Given the description of an element on the screen output the (x, y) to click on. 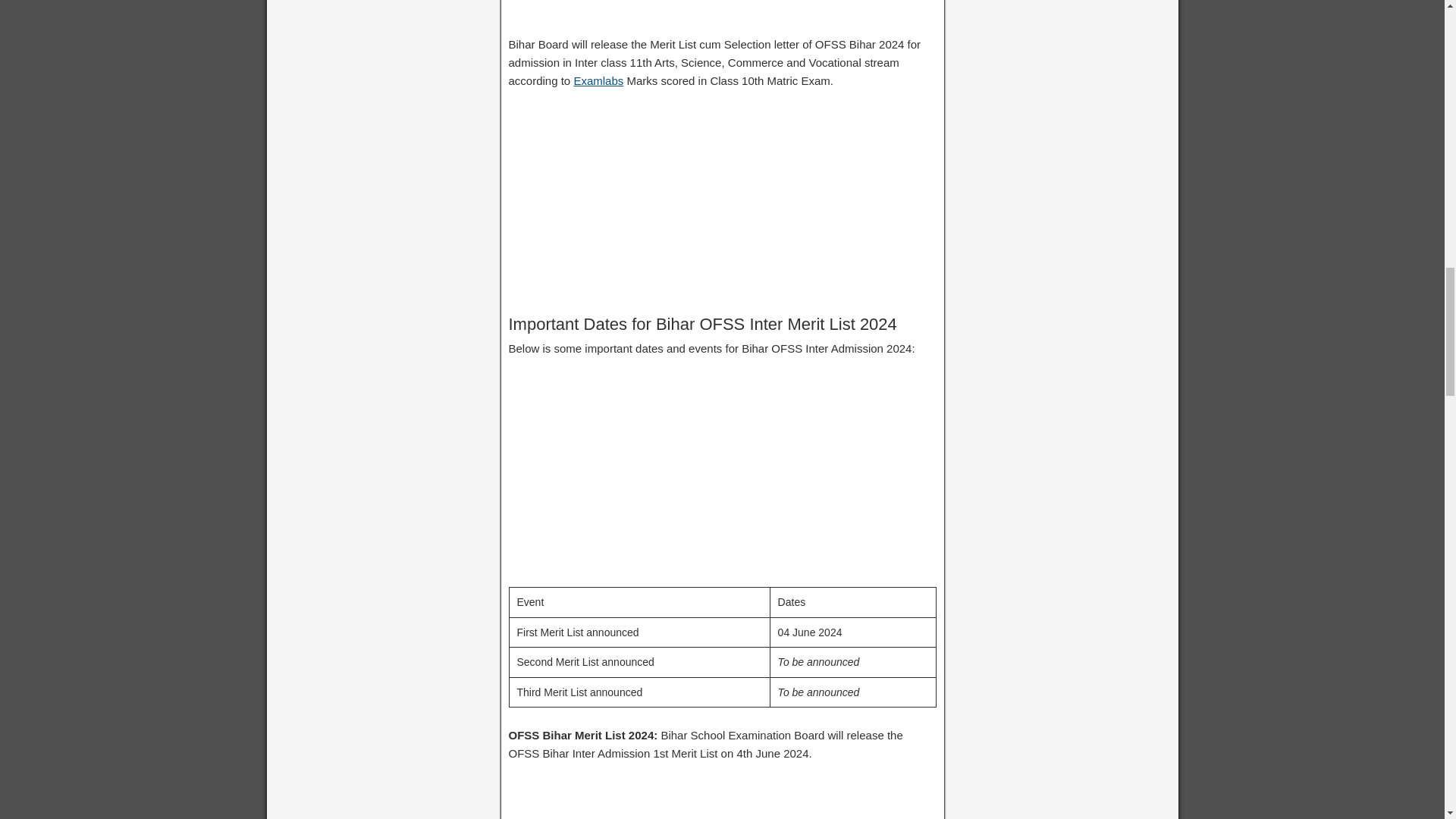
Advertisement (722, 16)
